Given the description of an element on the screen output the (x, y) to click on. 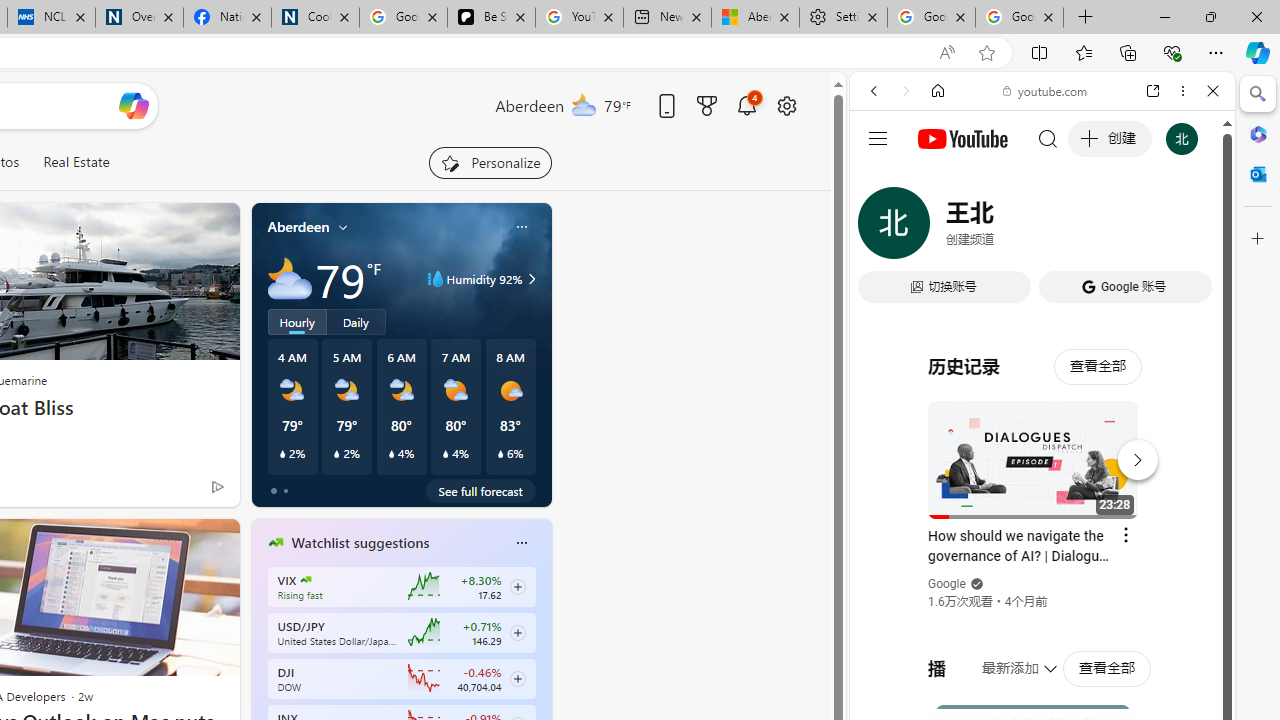
Open Copilot (132, 105)
See full forecast (480, 490)
Watchlist suggestions (360, 543)
See more (214, 542)
Hide this story (178, 542)
Aberdeen, Hong Kong SAR hourly forecast | Microsoft Weather (754, 17)
